Given the description of an element on the screen output the (x, y) to click on. 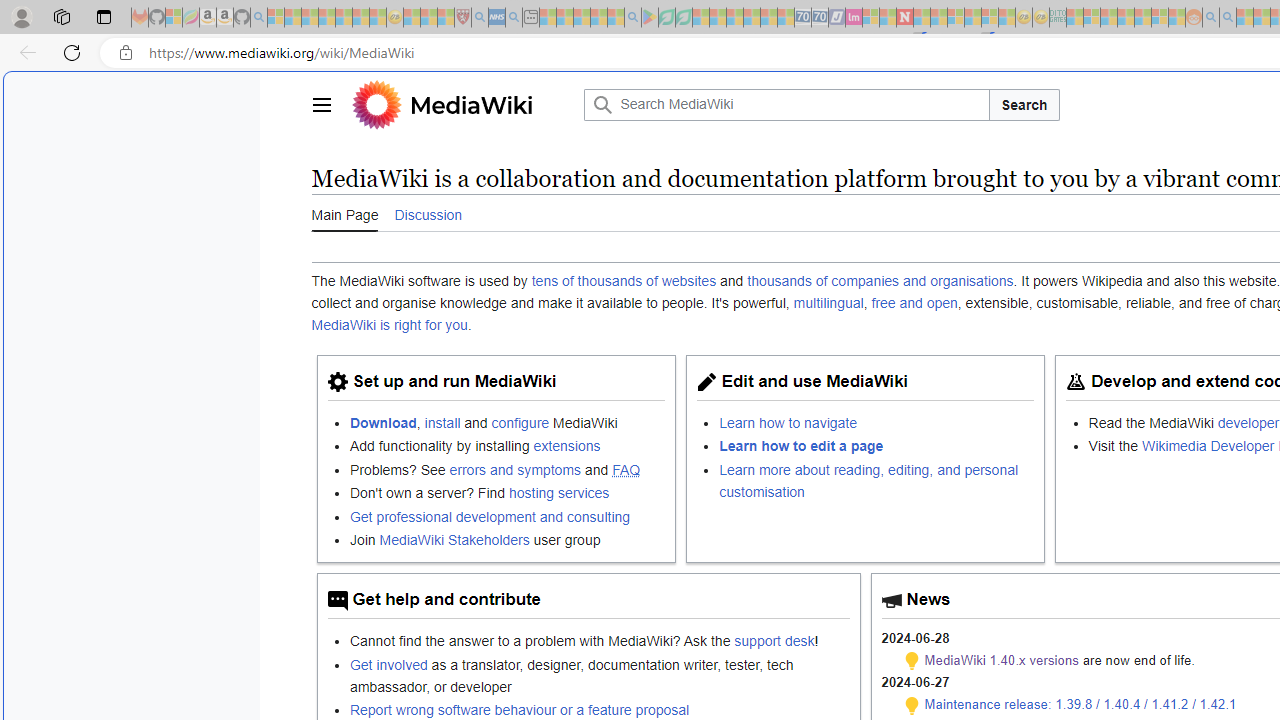
Main Page (344, 214)
configure (520, 422)
